Given the description of an element on the screen output the (x, y) to click on. 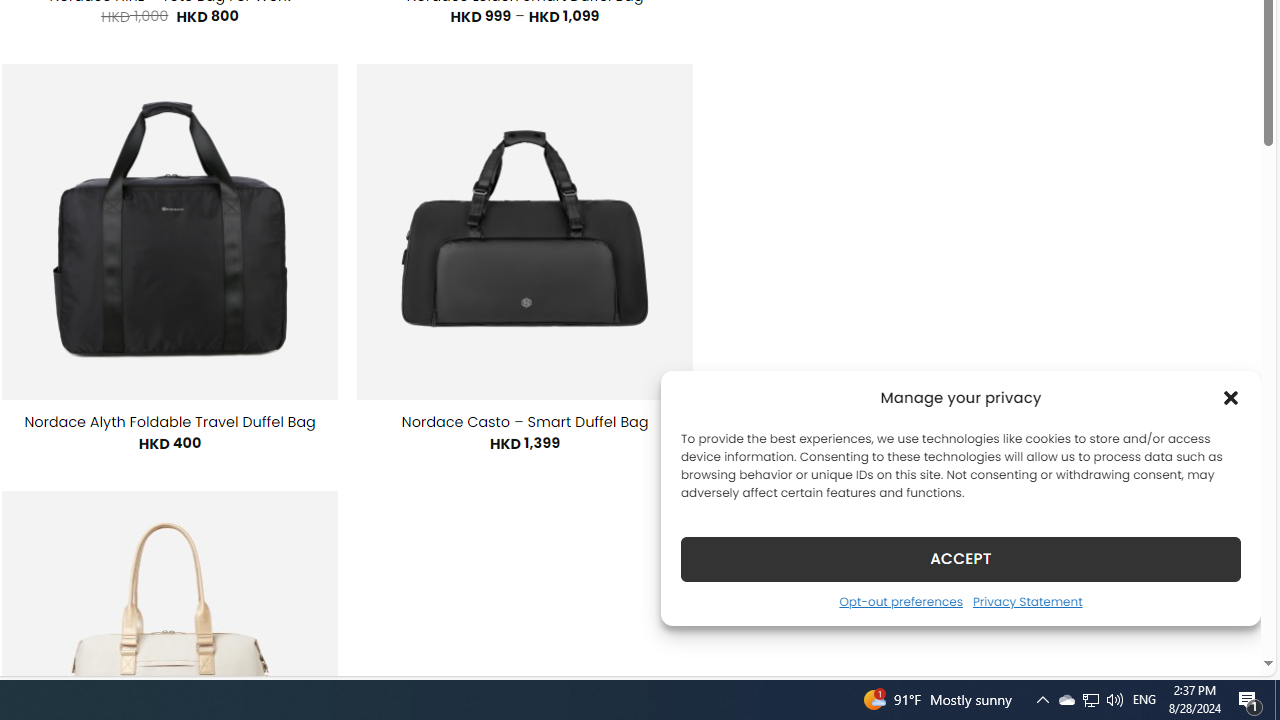
ACCEPT (960, 558)
Privacy Statement (1026, 601)
Class: cmplz-close (1231, 397)
Opt-out preferences (900, 601)
Nordace Alyth Foldable Travel Duffel Bag (170, 422)
